Given the description of an element on the screen output the (x, y) to click on. 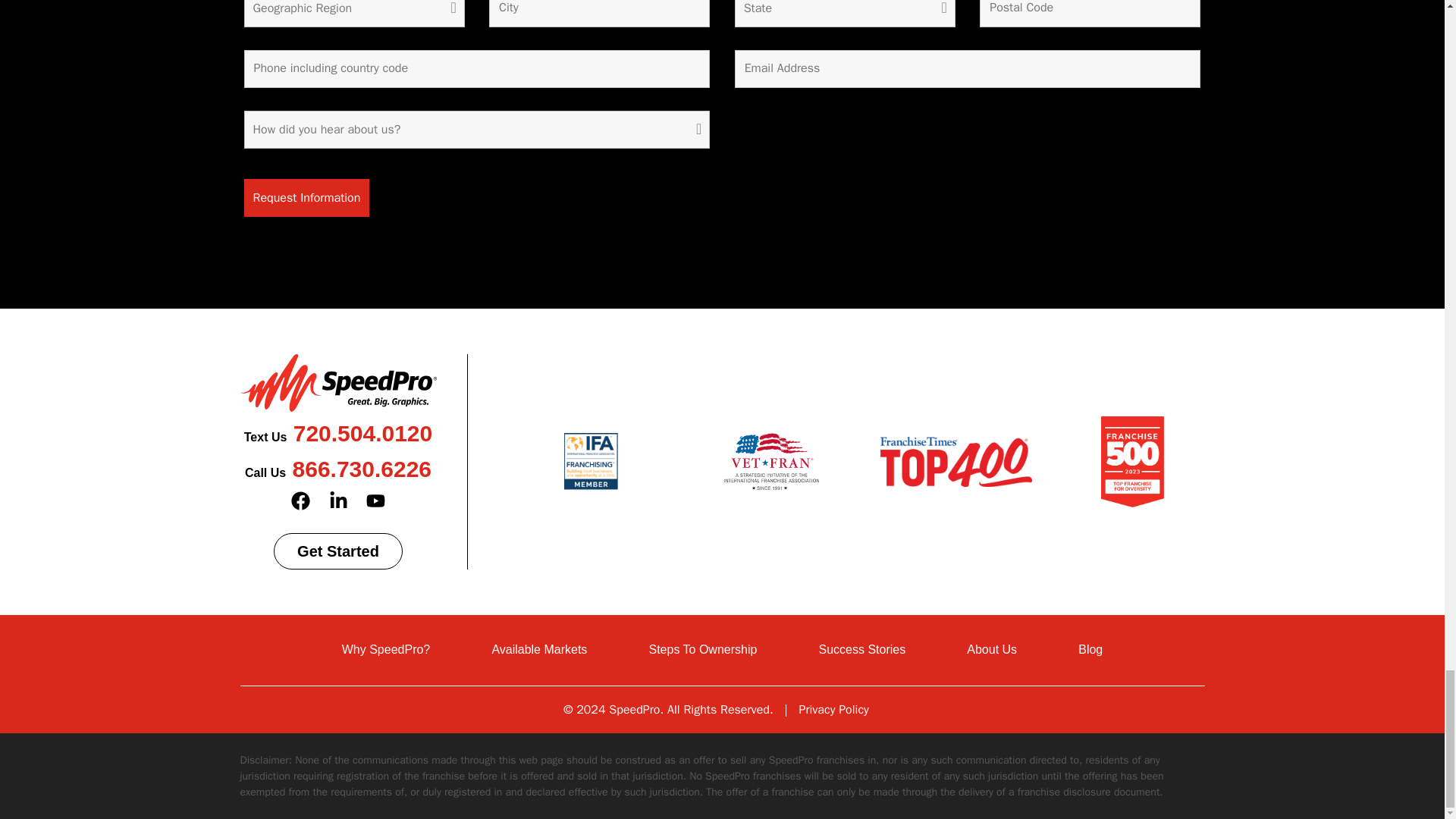
Request Information (306, 198)
